Given the description of an element on the screen output the (x, y) to click on. 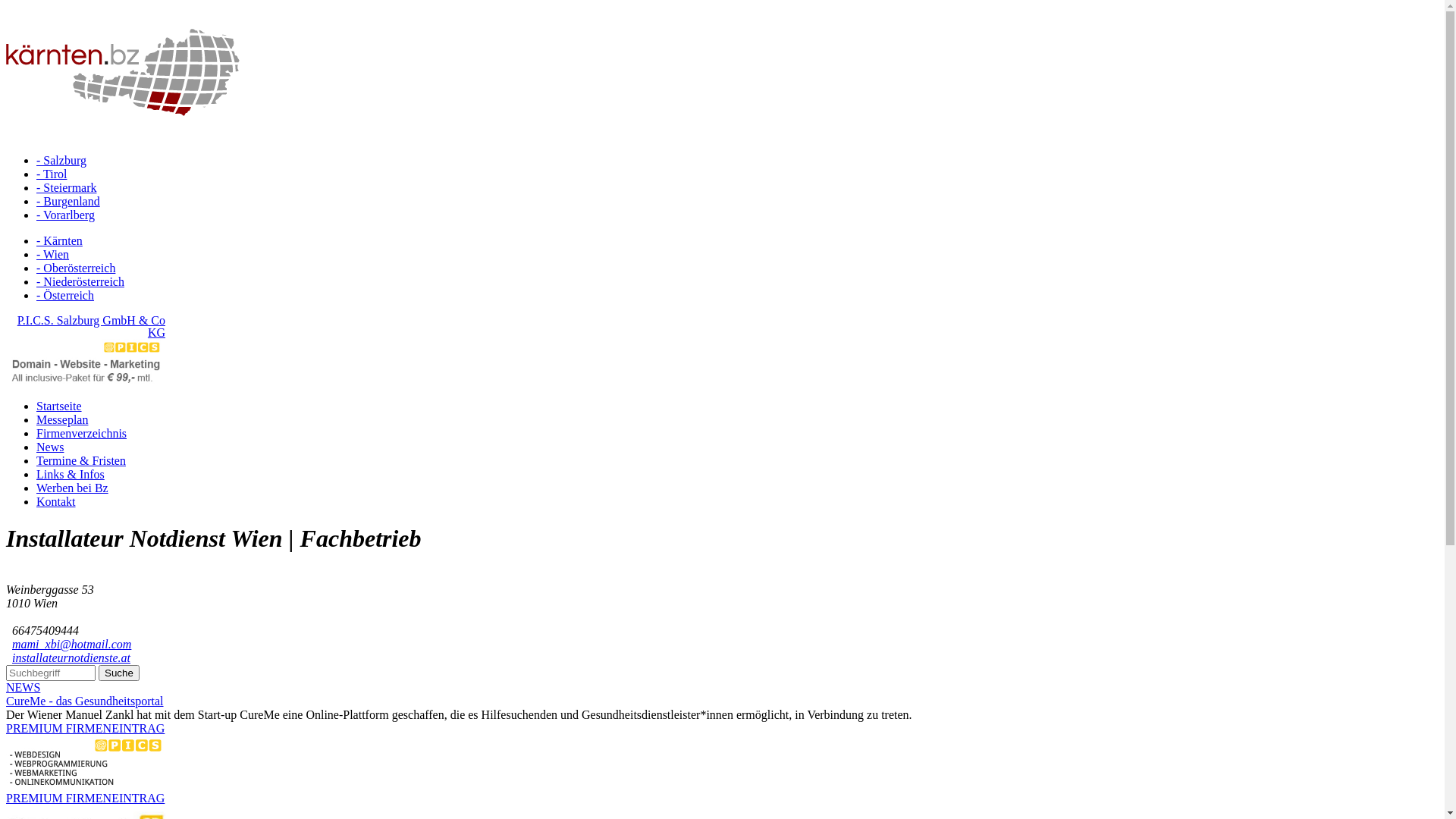
- Wien Element type: text (52, 253)
P.I.C.S. Salzburg GmbH & Co KG Element type: text (91, 325)
CureMe - das Gesundheitsportal Element type: text (84, 700)
News Element type: text (49, 446)
Firmenverzeichnis Element type: text (737, 433)
- Tirol Element type: text (51, 173)
- Vorarlberg Element type: text (65, 214)
PREMIUM FIRMENEINTRAG Element type: text (85, 797)
P.I.C.S. Salzburg GmbH & Co KG  Element type: hover (85, 379)
Messeplan Element type: text (61, 419)
Kontakt Element type: text (55, 501)
Termine & Fristen Element type: text (737, 460)
Termine & Fristen Element type: text (80, 460)
Links & Infos Element type: text (737, 474)
- Steiermark Element type: text (66, 187)
NEWS Element type: text (23, 686)
News Element type: text (737, 447)
PREMIUM FIRMENEINTRAG Element type: text (85, 727)
Startseite Element type: text (58, 405)
Messeplan Element type: text (737, 419)
Startseite Element type: text (737, 406)
- Salzburg Element type: text (61, 159)
Firmenverzeichnis Element type: text (81, 432)
Werben bei Bz Element type: text (737, 488)
Links & Infos Element type: text (70, 473)
mami_xbi@hotmail.com Element type: text (71, 643)
- Burgenland Element type: text (68, 200)
Kontakt Element type: text (737, 501)
installateurnotdienste.at Element type: text (71, 657)
Werben bei Bz Element type: text (72, 487)
Suche Element type: text (118, 672)
